Given the description of an element on the screen output the (x, y) to click on. 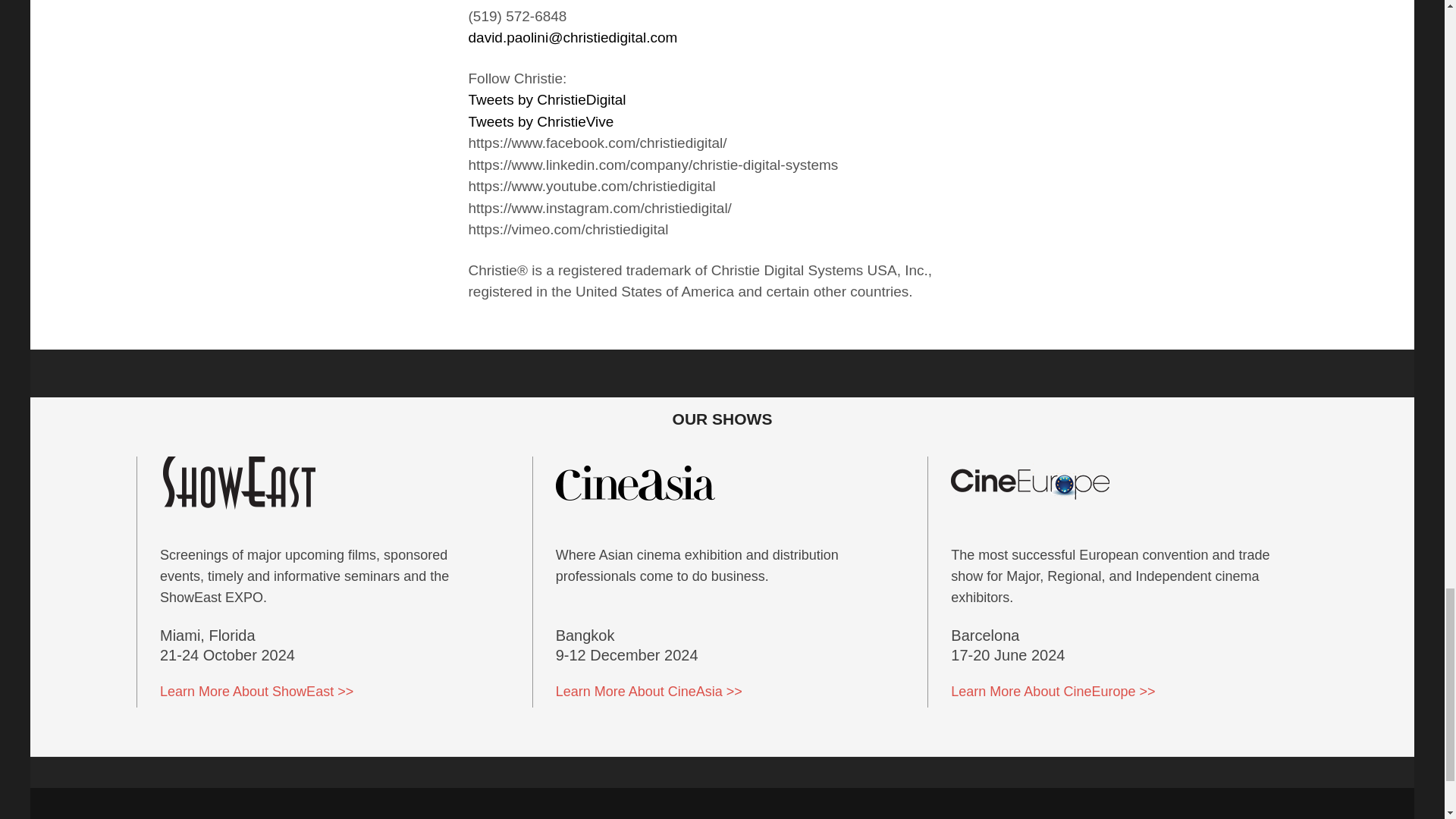
Tweets by ChristieVive (541, 121)
Tweets by ChristieDigital (547, 99)
